Given the description of an element on the screen output the (x, y) to click on. 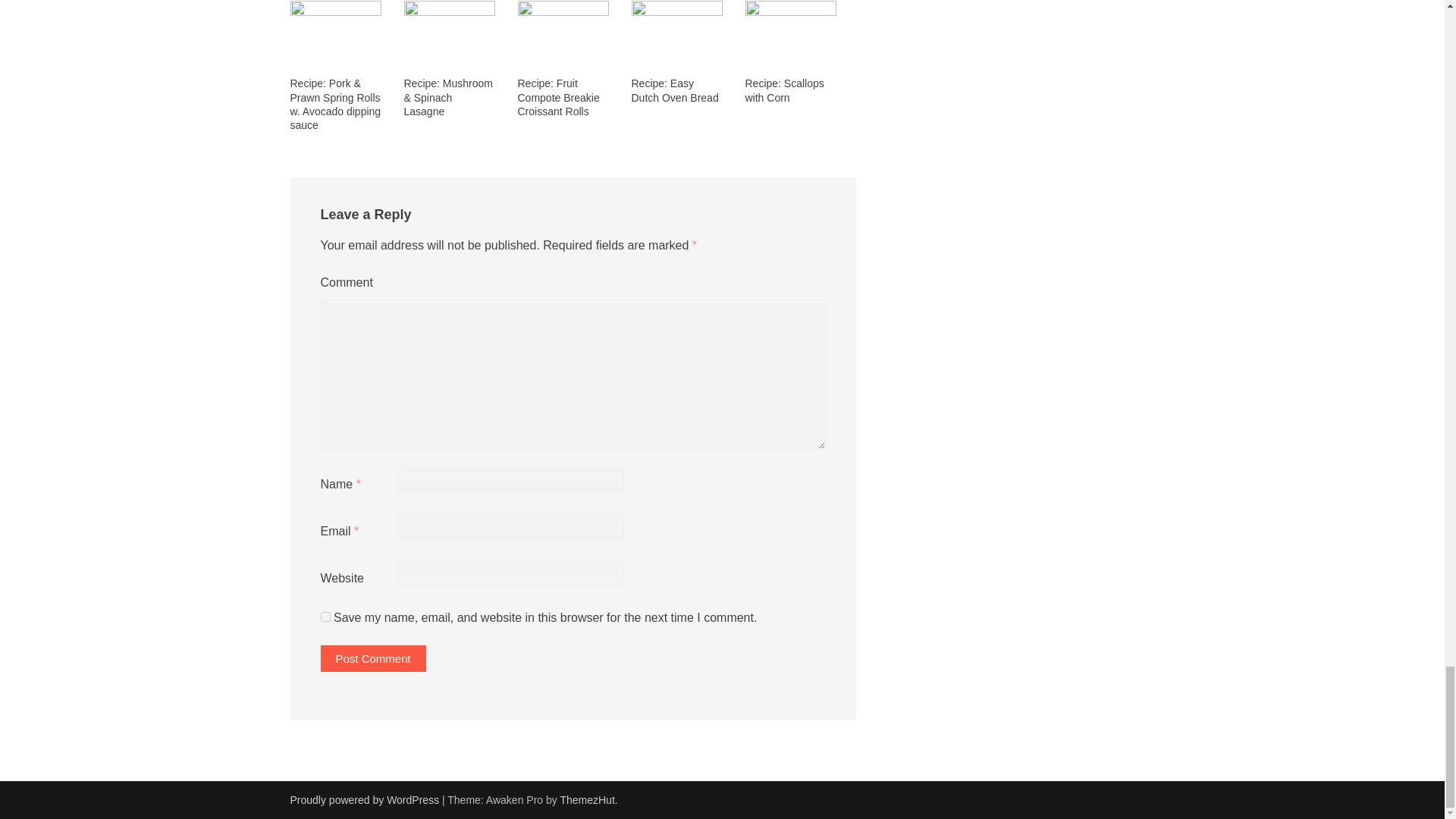
Post Comment (372, 658)
yes (325, 616)
